Given the description of an element on the screen output the (x, y) to click on. 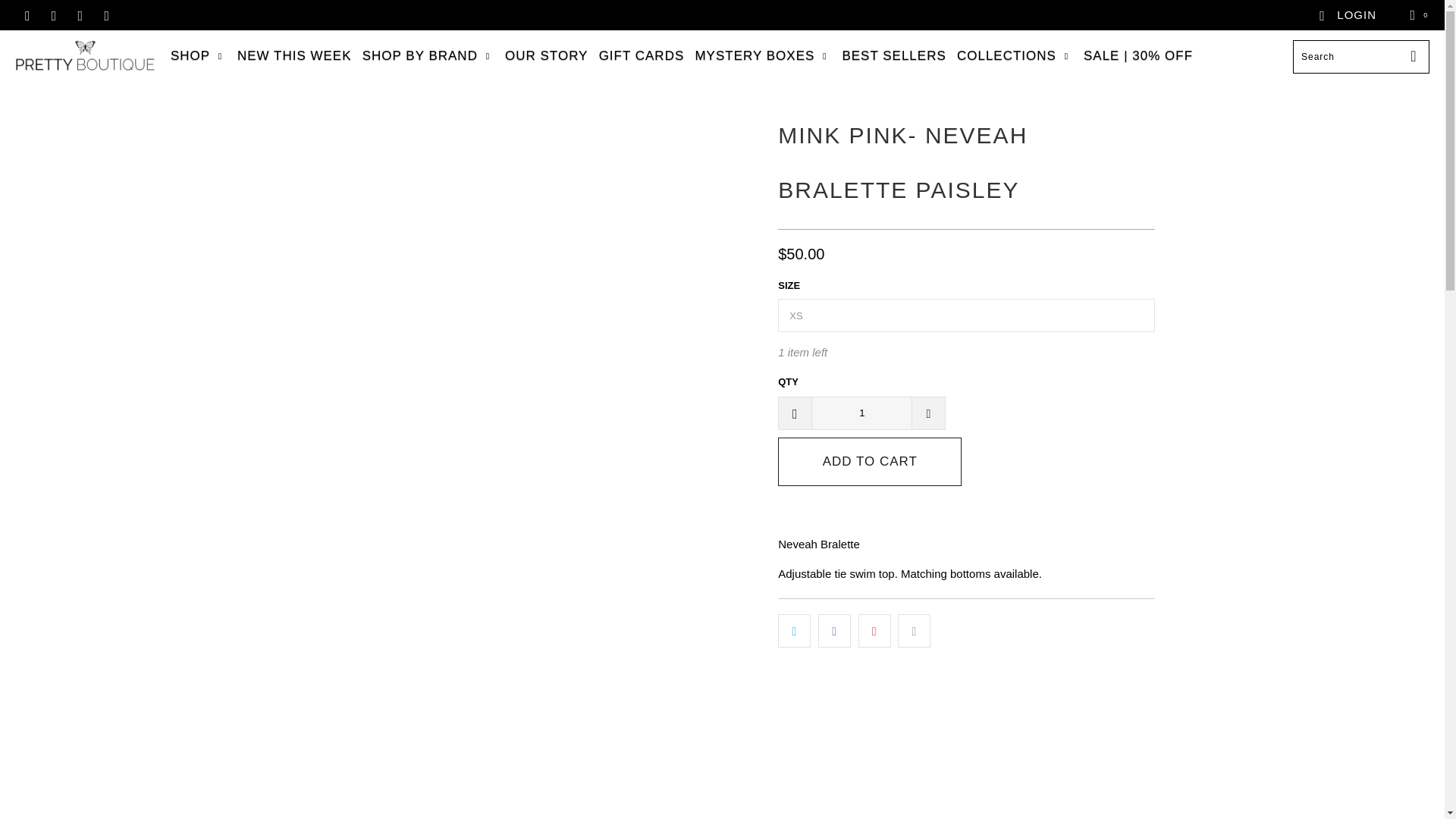
Pretty Boutique  on Instagram (79, 14)
Pretty Boutique  on Pinterest (53, 14)
Pretty Boutique  (84, 55)
Share this on Facebook (834, 630)
Share this on Pinterest (875, 630)
My Account  (1346, 15)
Pretty Boutique  on Facebook (26, 14)
Email Pretty Boutique  (107, 14)
Email this to a friend (914, 630)
1 (861, 412)
